Given the description of an element on the screen output the (x, y) to click on. 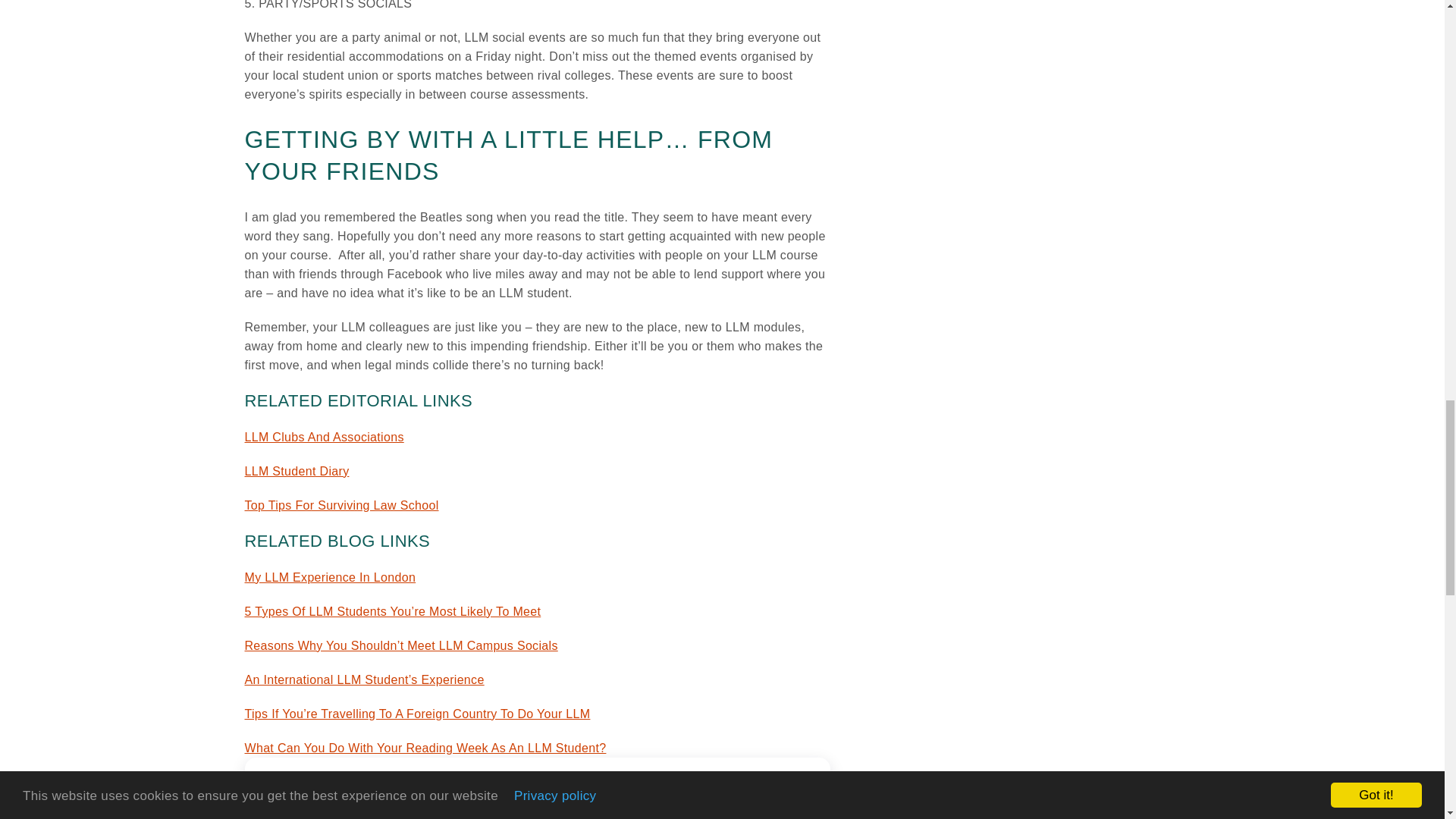
Reasons why you shouldn't miss LLM socials (400, 645)
LLM Reading Week (424, 748)
LLM student diary (296, 471)
LLM students (392, 611)
Surviving law school (341, 504)
International LLM student (416, 713)
LLM associations (323, 436)
My LLM Experience in London (329, 576)
International LLM students experience (363, 679)
